Given the description of an element on the screen output the (x, y) to click on. 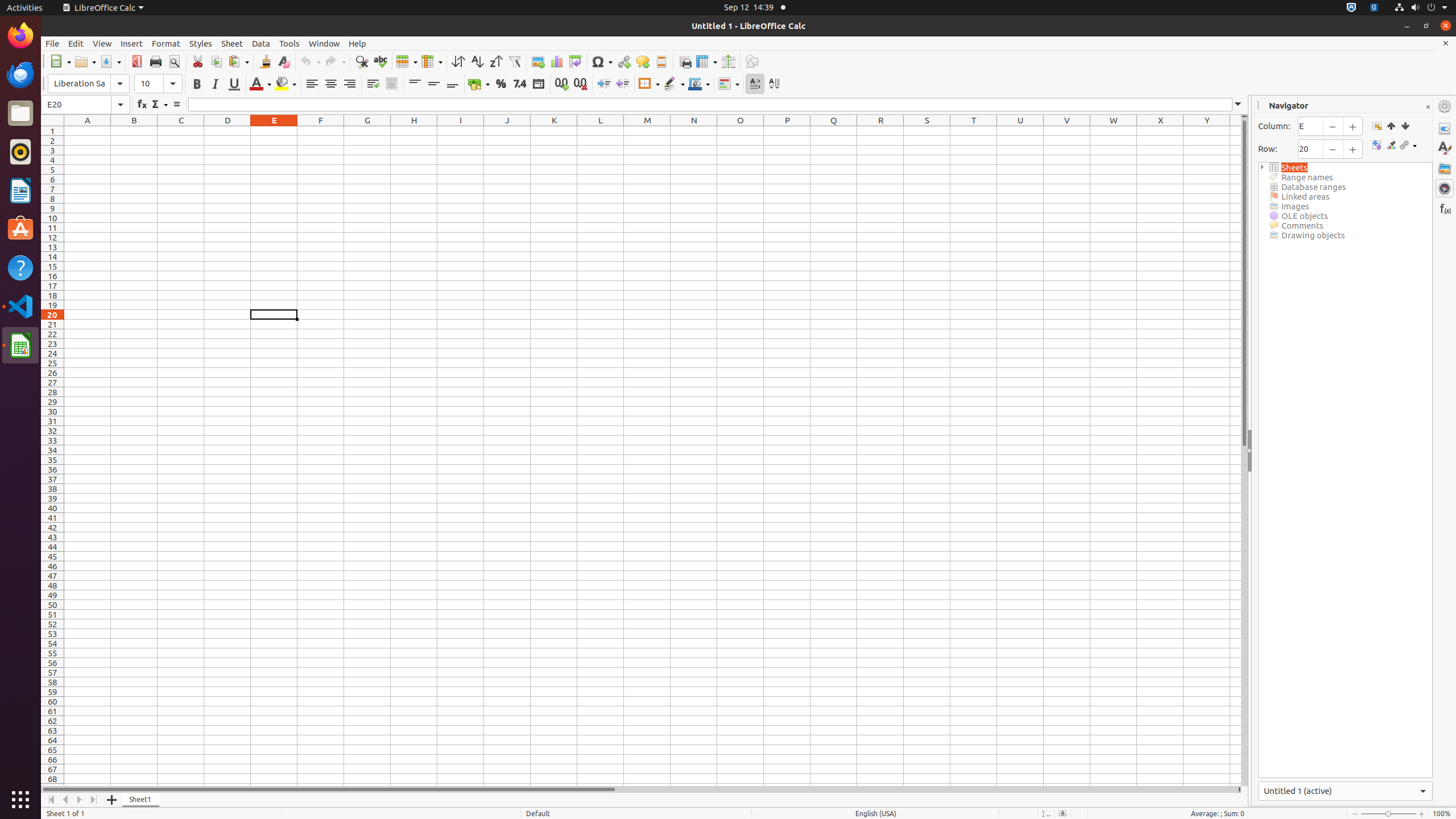
Save Element type: push-button (109, 61)
Align Top Element type: push-button (414, 83)
Function Wizard Element type: push-button (141, 104)
Merge and Center Cells Element type: push-button (391, 83)
Conditional Element type: push-button (728, 83)
